Given the description of an element on the screen output the (x, y) to click on. 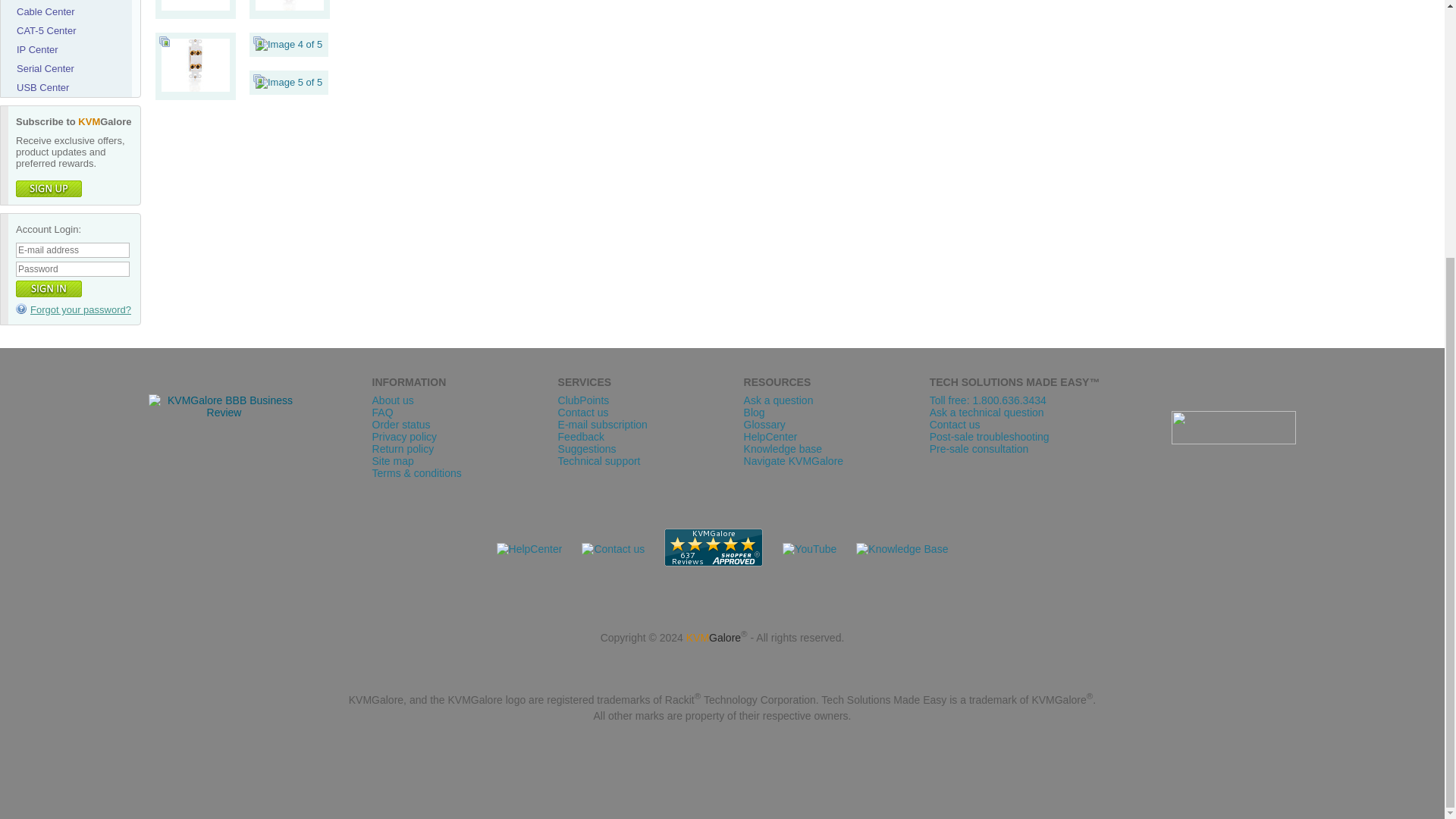
Image 5 of 5 (288, 81)
 Knowledge Base  (901, 548)
 Contact us  (612, 548)
 YouTube  (809, 548)
Image 2 of 5 (289, 7)
 HelpCenter  (529, 548)
 Image 2 of 5  (289, 5)
Image 1 of 5 (195, 7)
 Sign Up  (48, 188)
 Image 4 of 5  (288, 44)
 Image 1 of 5  (195, 5)
 Image 5 of 5  (288, 82)
Image 4 of 5 (288, 43)
Image 3 of 5 (195, 88)
 Image 3 of 5  (195, 64)
